Given the description of an element on the screen output the (x, y) to click on. 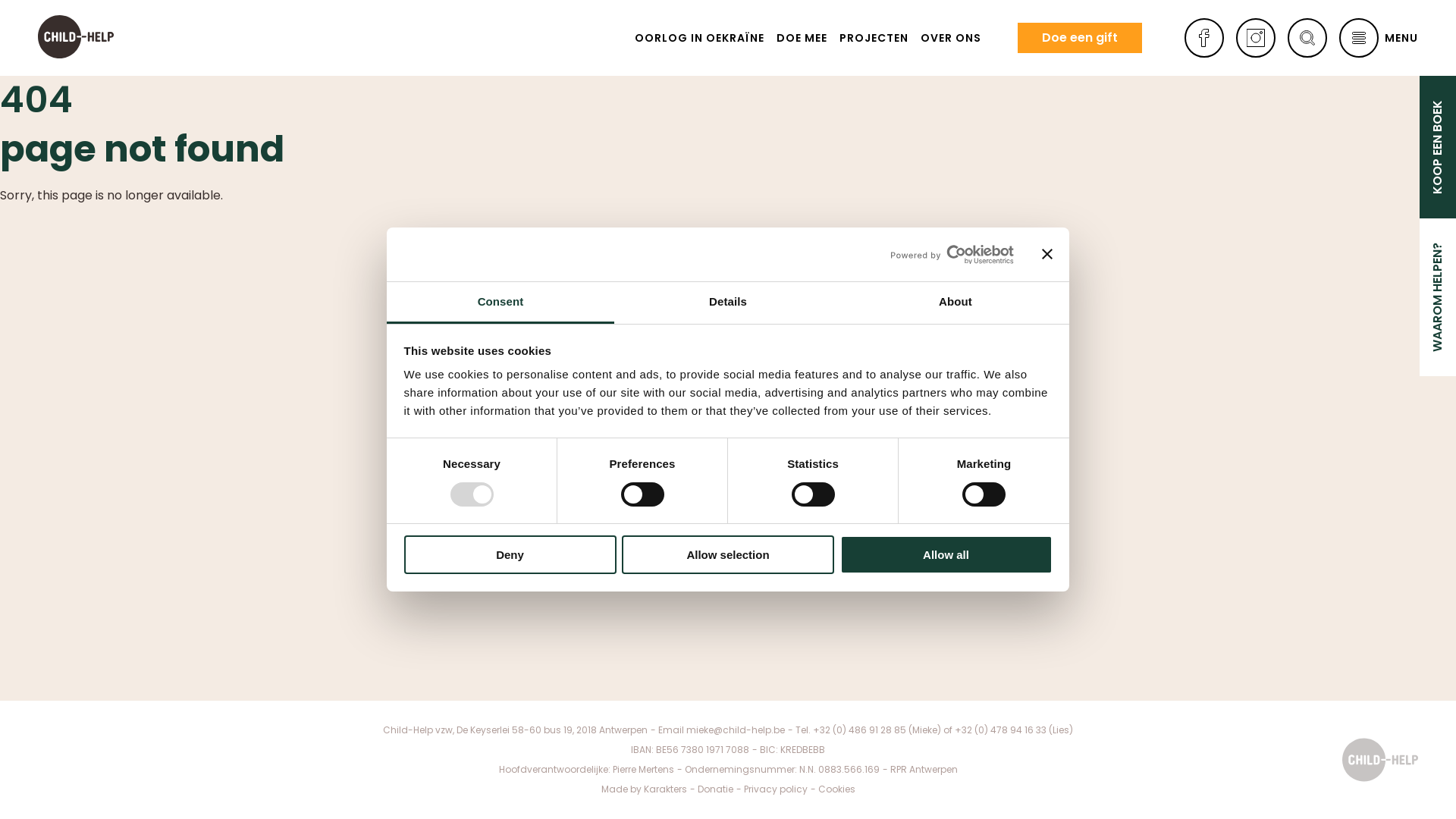
Allow all Element type: text (946, 554)
Made by Karakters Element type: text (643, 788)
Email mieke@child-help.be Element type: text (721, 729)
Consent Element type: text (500, 303)
PROJECTEN Element type: text (873, 37)
Doe een gift Element type: text (1079, 37)
Allow selection Element type: text (727, 554)
Cookies Element type: text (835, 788)
Donatie Element type: text (715, 788)
Privacy policy Element type: text (774, 788)
OVER ONS Element type: text (950, 37)
About Element type: text (955, 303)
Deny Element type: text (509, 554)
Details Element type: text (727, 303)
DOE MEE Element type: text (801, 37)
